Given the description of an element on the screen output the (x, y) to click on. 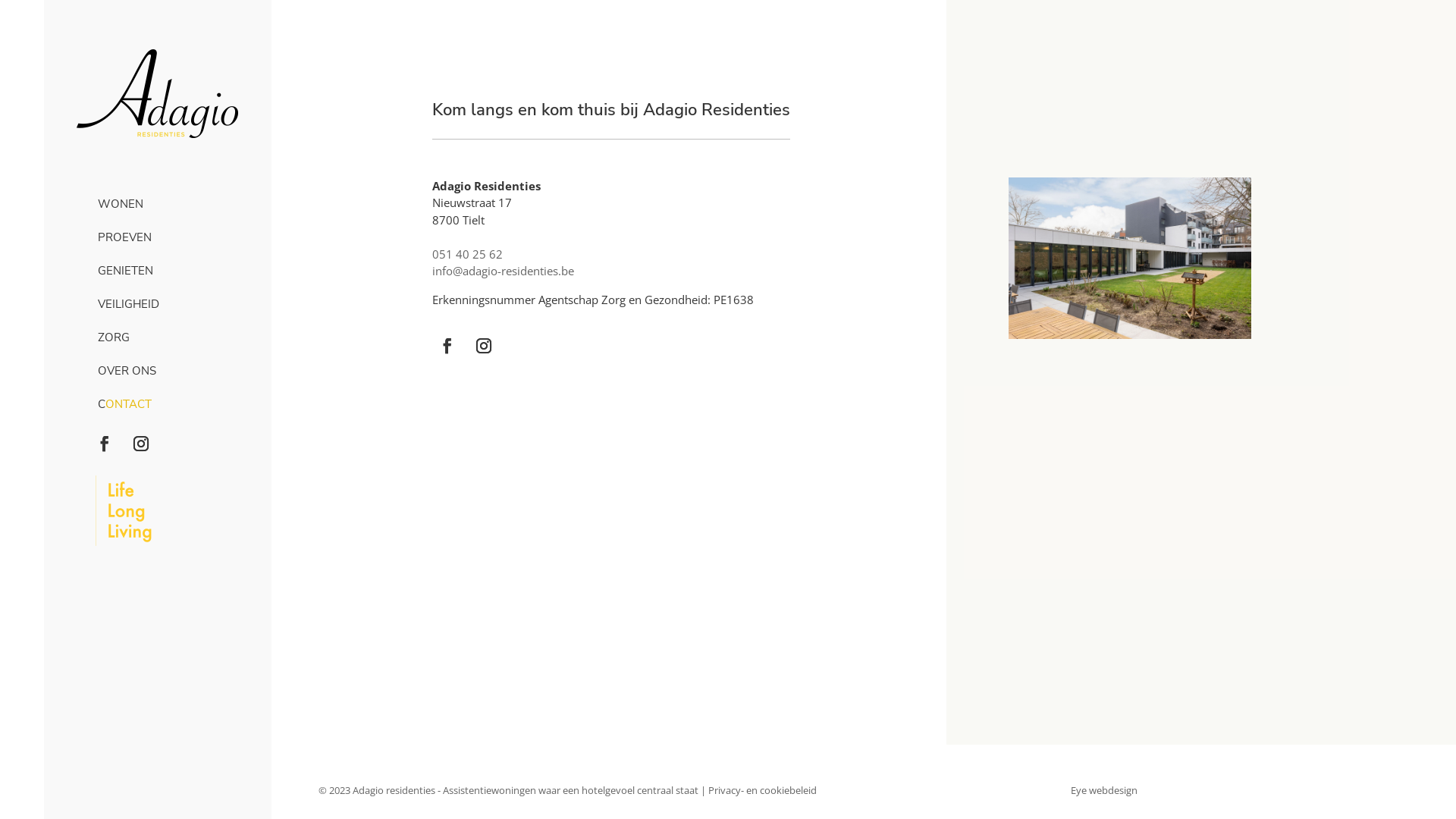
Volg op Instagram Element type: hover (140, 443)
adagio-residenties-1 Element type: hover (1129, 257)
VEILIGHEID Element type: text (157, 303)
Volg op Instagram Element type: hover (483, 345)
051 40 25 62 Element type: text (467, 253)
WONEN Element type: text (157, 203)
Privacy- en cookiebeleid Element type: text (762, 789)
PROEVEN Element type: text (157, 237)
info@adagio-residenties.be Element type: text (503, 270)
LONGLIFELIVING_BASELINE Element type: hover (123, 510)
GENIETEN Element type: text (157, 270)
OVER ONS Element type: text (157, 370)
CONTACT Element type: text (157, 404)
ZORG Element type: text (157, 337)
Volg op Facebook Element type: hover (104, 443)
Volg op Facebook Element type: hover (447, 345)
